Given the description of an element on the screen output the (x, y) to click on. 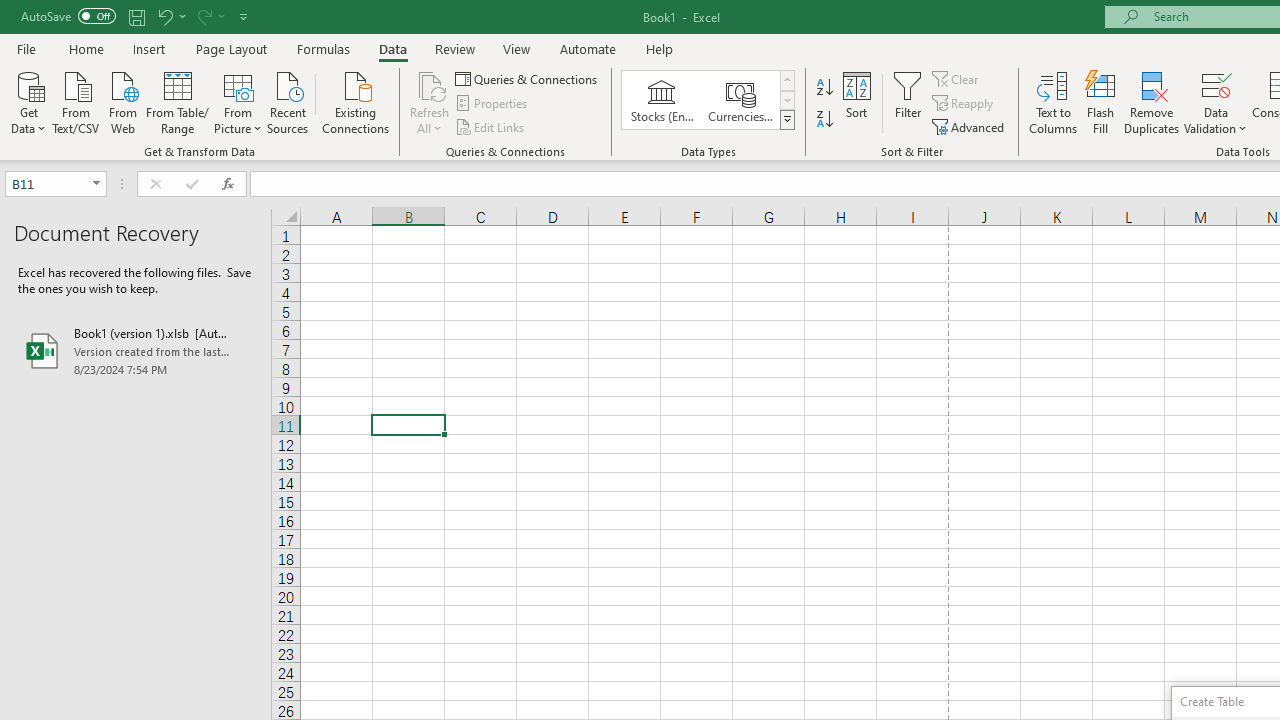
Filter (908, 102)
Get Data (28, 101)
Row Down (786, 100)
Sort A to Z (824, 87)
Undo (170, 15)
Open (96, 183)
Data (392, 48)
Recent Sources (287, 101)
From Text/CSV (75, 101)
Refresh All (429, 84)
Automate (588, 48)
Home (86, 48)
